Given the description of an element on the screen output the (x, y) to click on. 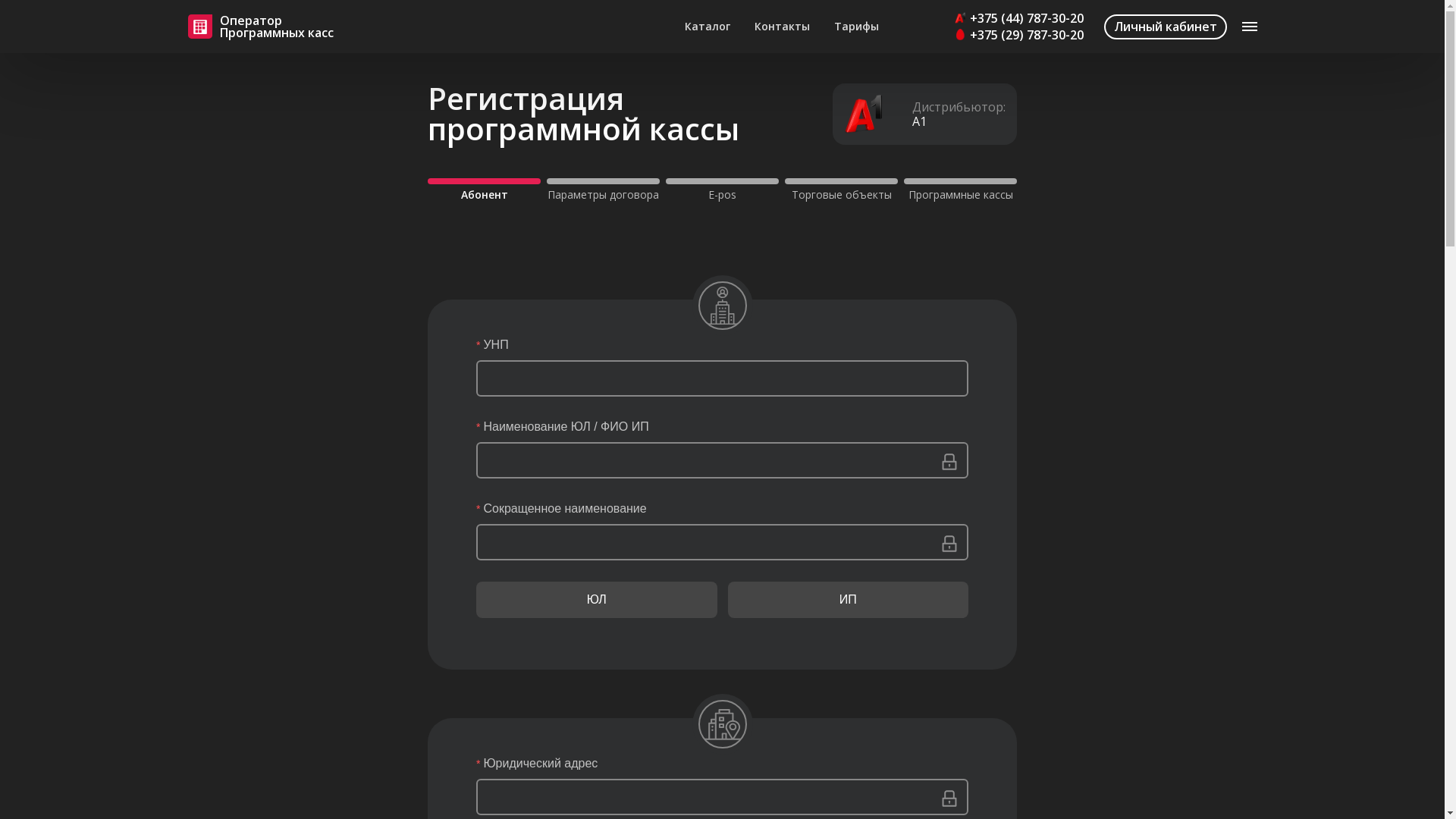
+375 (29) 787-30-20 Element type: text (1017, 34)
+375 (44) 787-30-20 Element type: text (1017, 17)
